Given the description of an element on the screen output the (x, y) to click on. 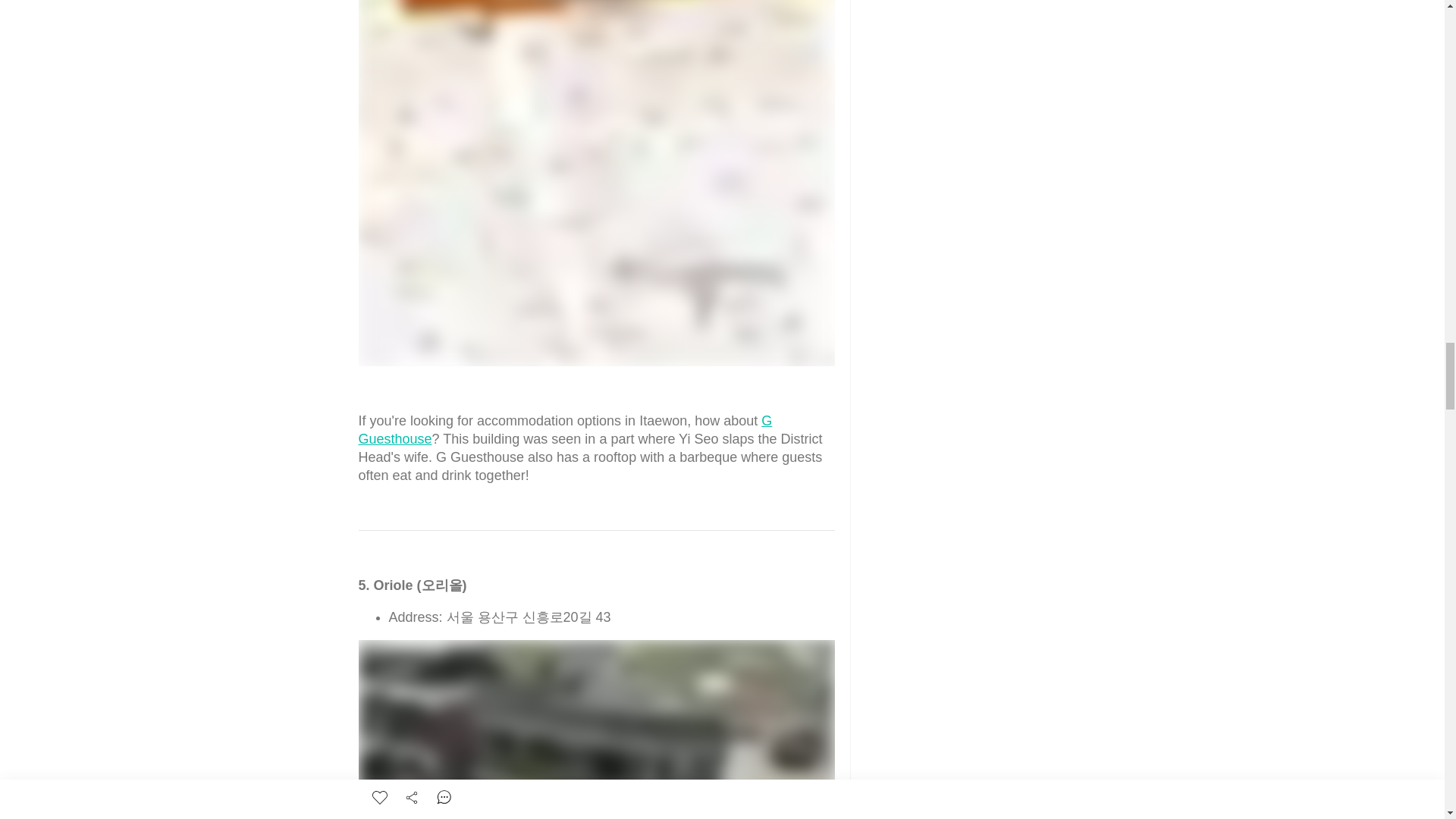
G Guesthouse (564, 429)
